Given the description of an element on the screen output the (x, y) to click on. 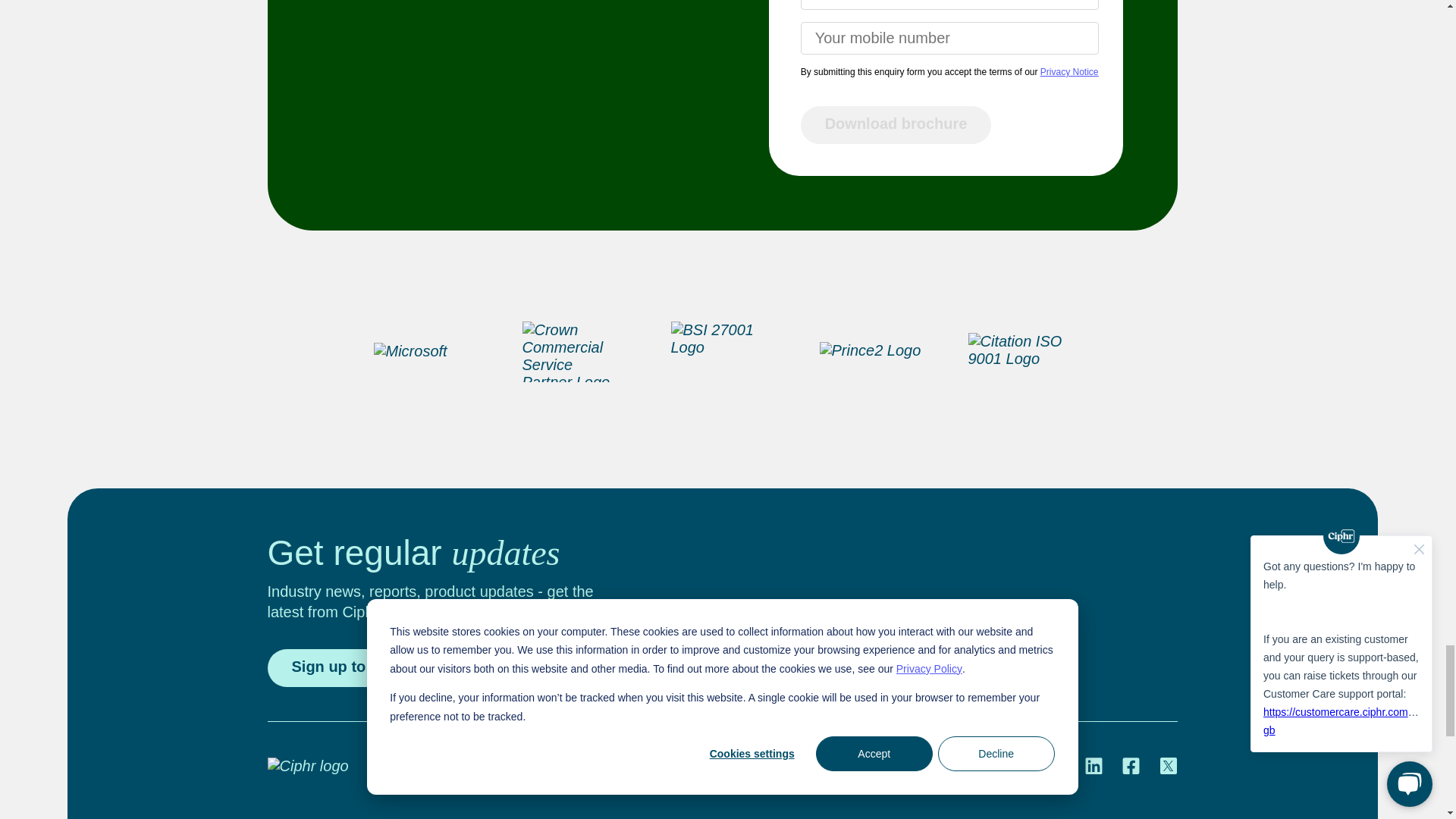
Download brochure (895, 125)
